Given the description of an element on the screen output the (x, y) to click on. 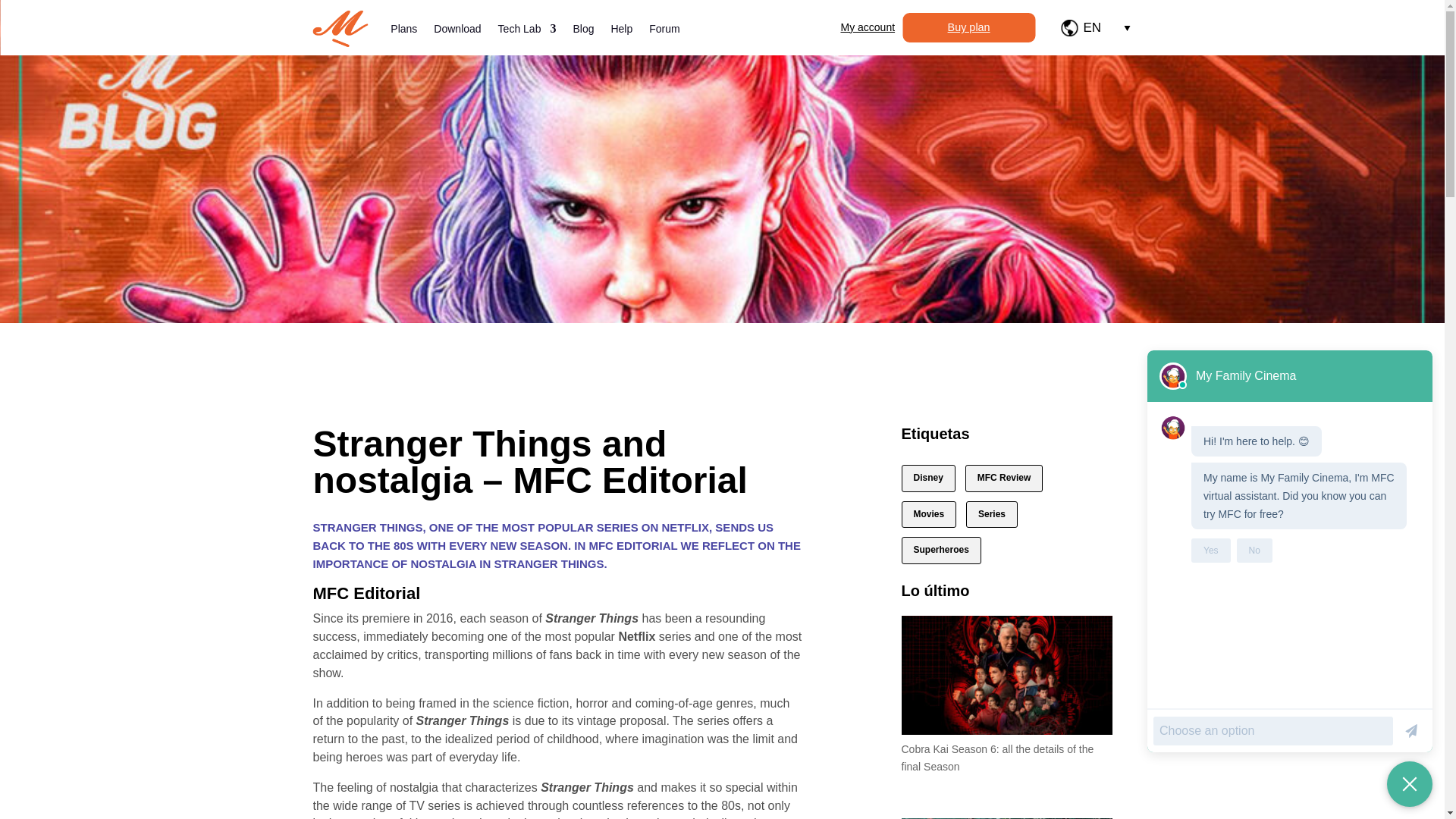
EN (1091, 27)
Tech Lab (526, 28)
Buy plan (968, 27)
My account (867, 27)
